Given the description of an element on the screen output the (x, y) to click on. 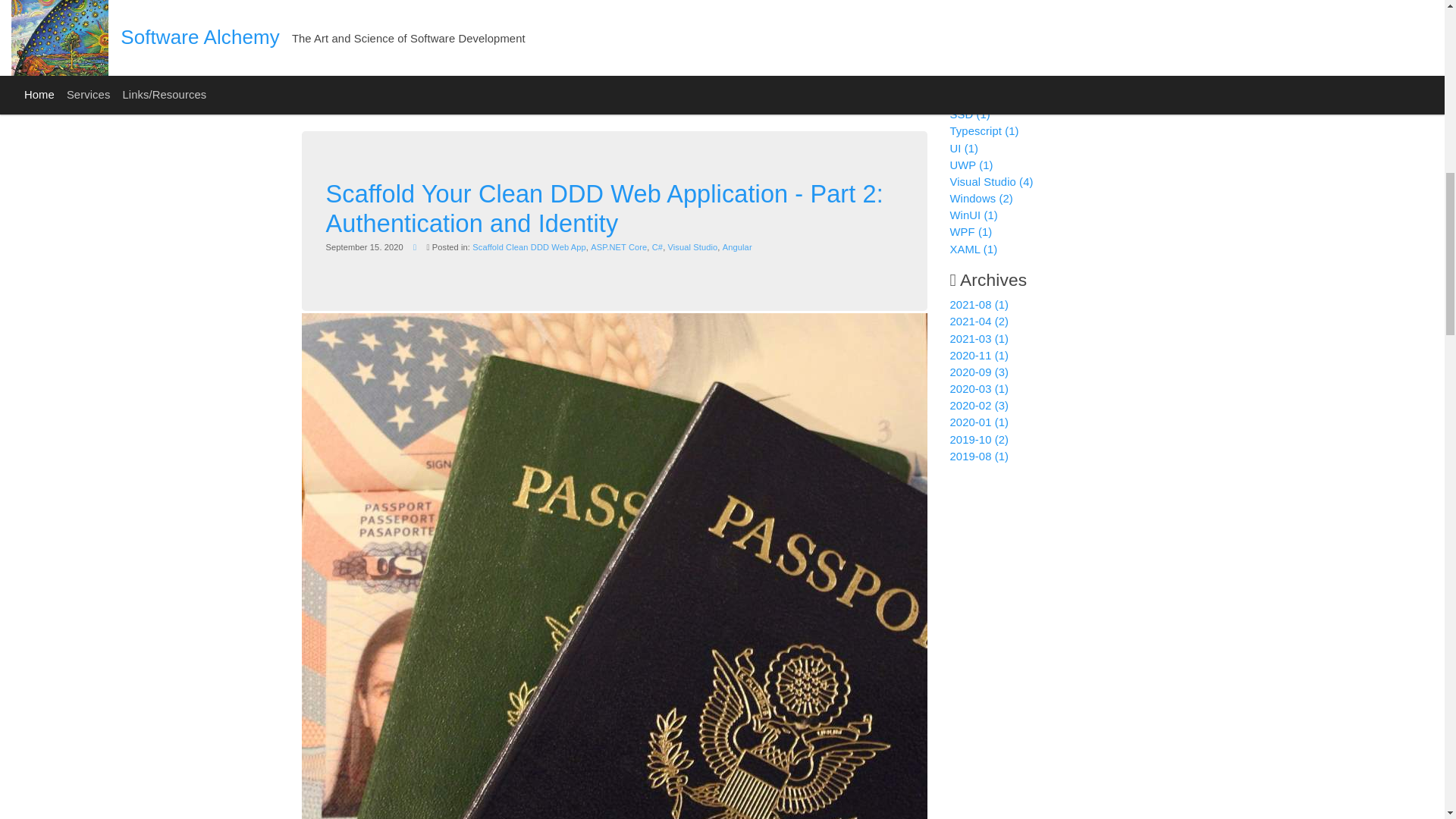
ASP.NET Core (618, 246)
Visual Studio (691, 246)
Scaffold Clean DDD Web App (528, 246)
Angular (737, 246)
